Given the description of an element on the screen output the (x, y) to click on. 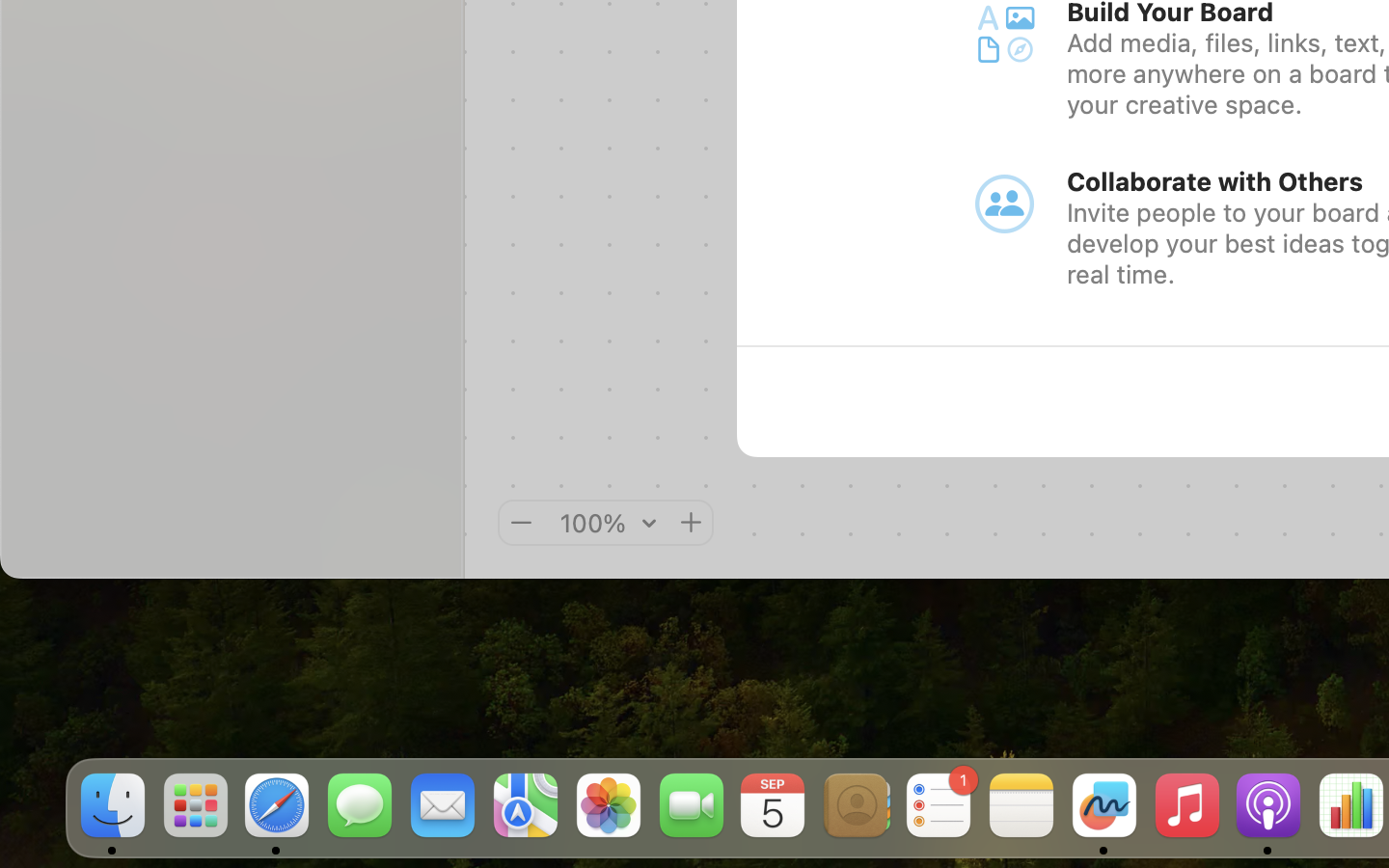
Collaborate with Others Element type: AXStaticText (1214, 180)
